Given the description of an element on the screen output the (x, y) to click on. 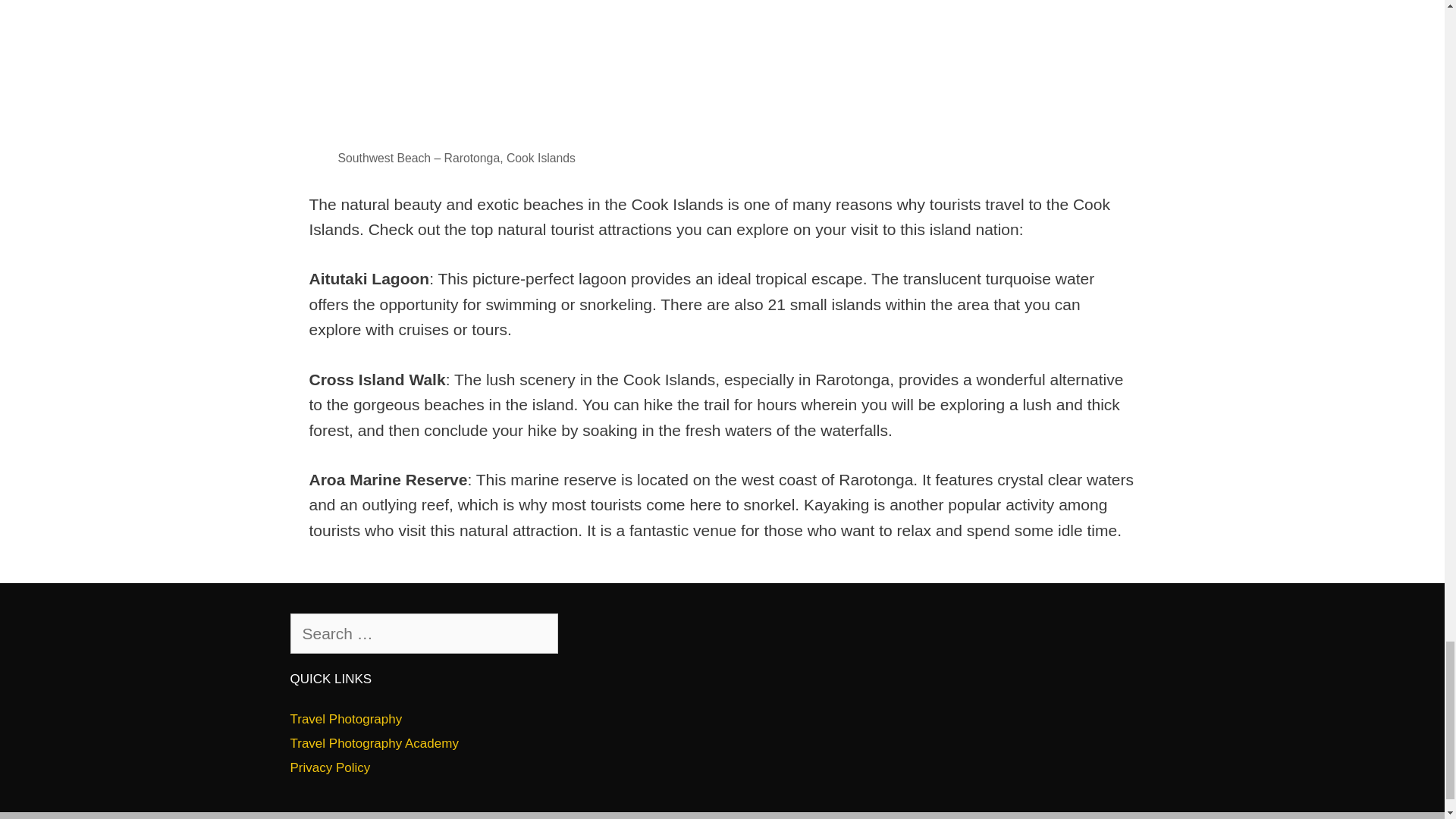
Travel Photography Academy (373, 743)
Search for: (423, 633)
Travel Photography (345, 718)
Privacy Policy (329, 767)
